Given the description of an element on the screen output the (x, y) to click on. 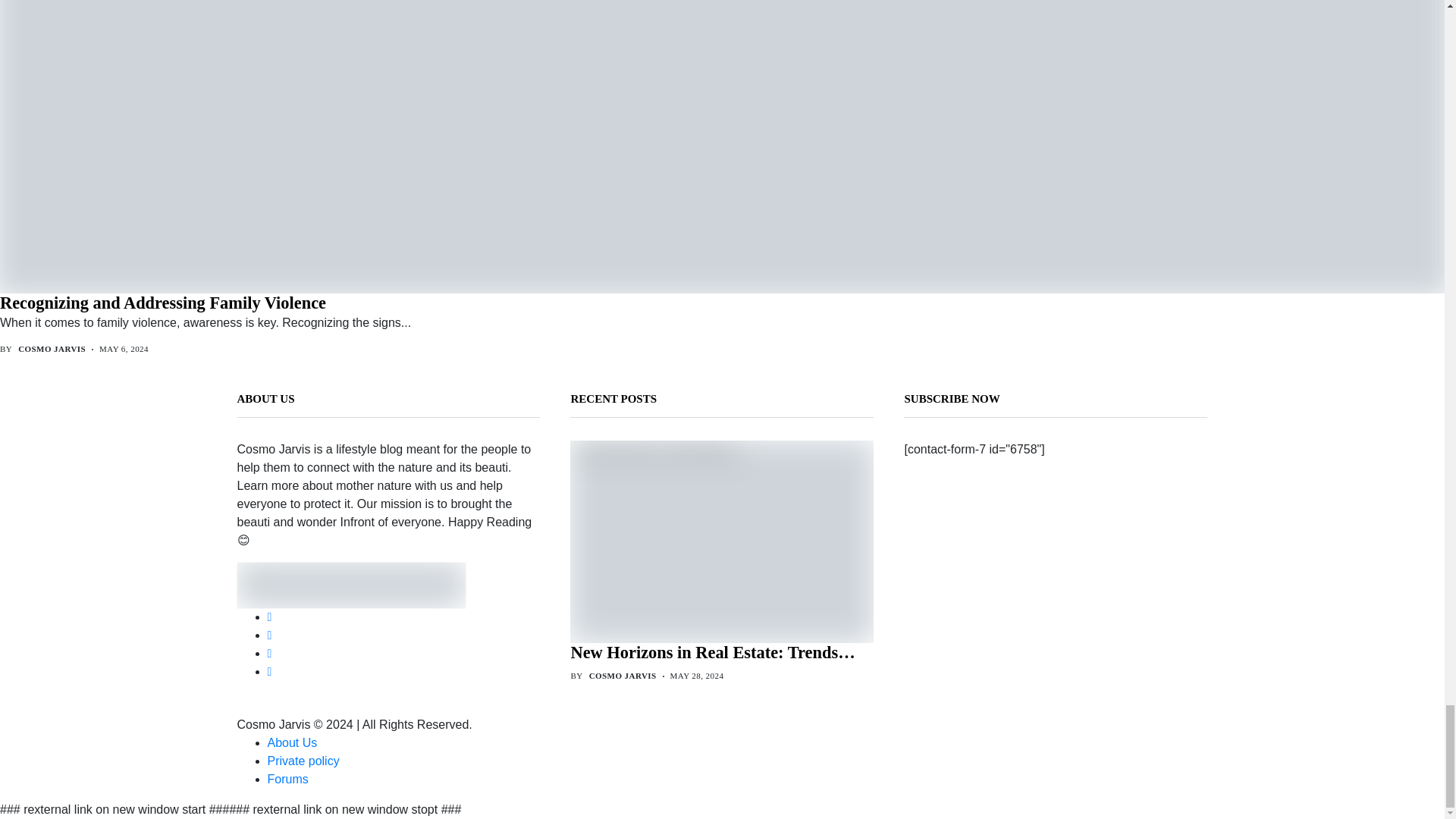
Posts by Cosmo Jarvis (622, 675)
Posts by Cosmo Jarvis (51, 348)
